Given the description of an element on the screen output the (x, y) to click on. 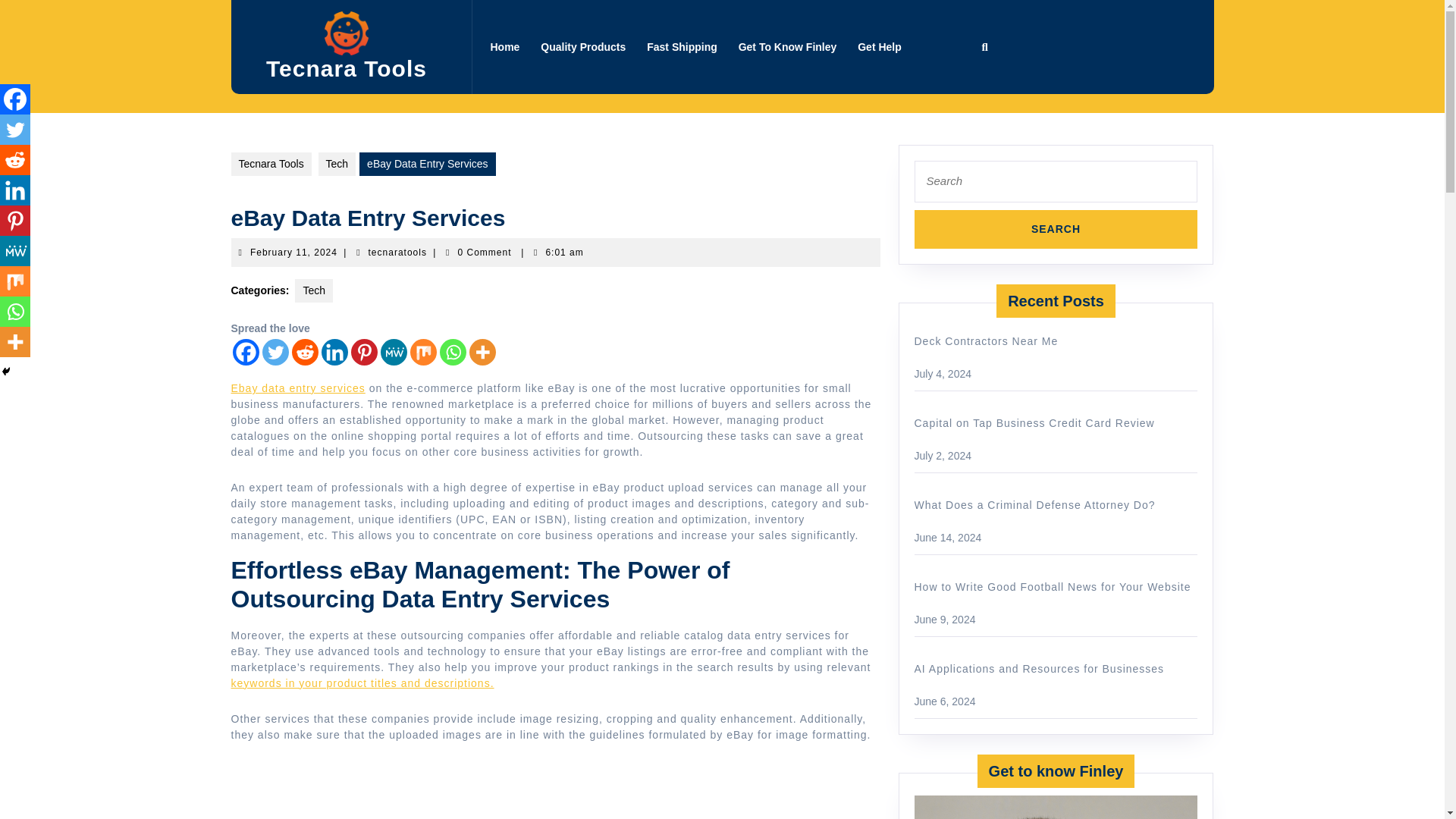
Pinterest (363, 352)
More (481, 352)
Whatsapp (452, 352)
MeWe (393, 352)
Facebook (245, 352)
Tecnara Tools (270, 164)
Search (1056, 228)
Get Help (879, 47)
Home (397, 252)
Search (504, 47)
Linkedin (1056, 228)
Ebay data entry services (15, 190)
Get To Know Finley (297, 387)
Linkedin (787, 47)
